Given the description of an element on the screen output the (x, y) to click on. 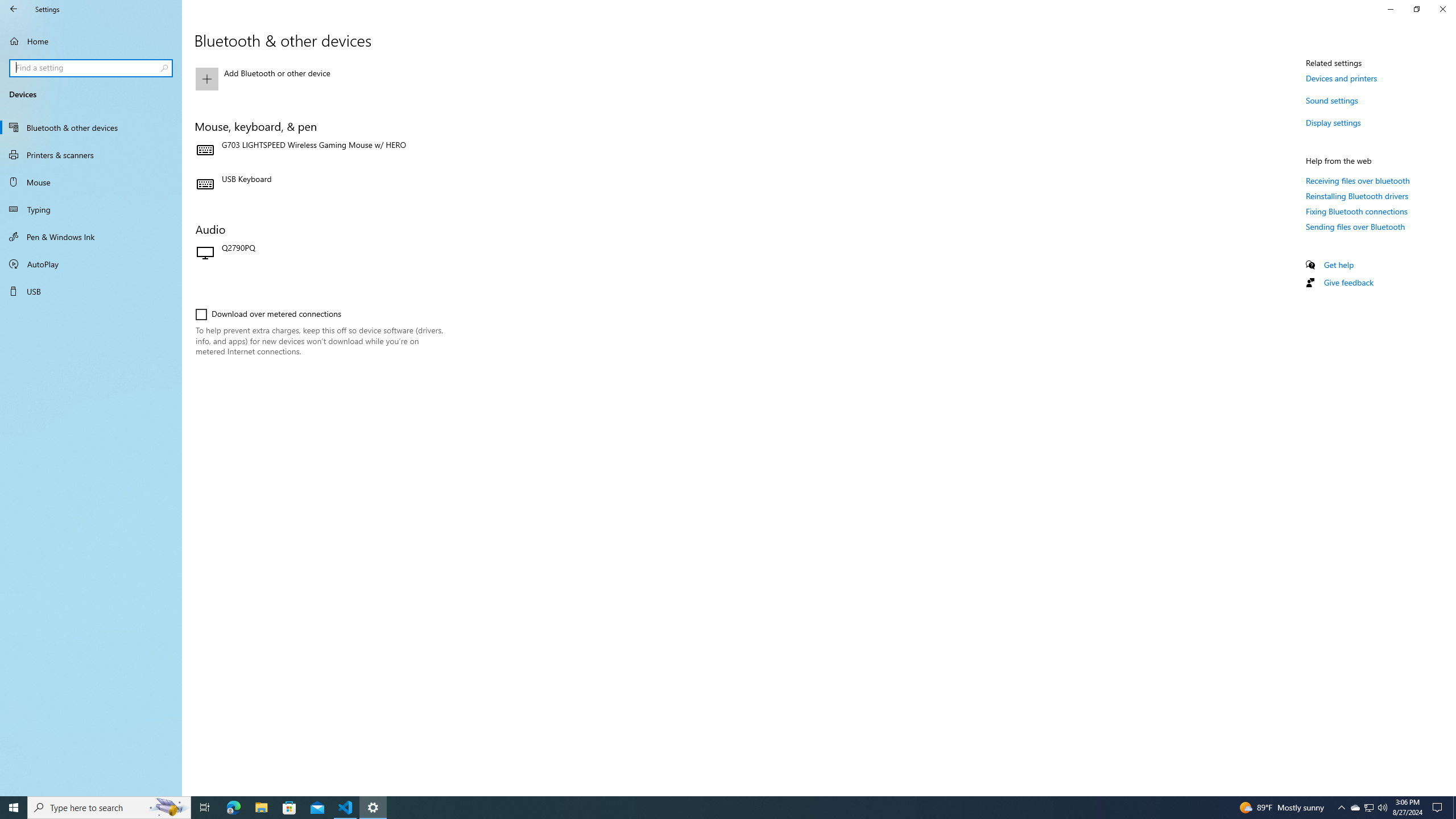
Add Bluetooth or other device (319, 78)
Q2790PQ Type: Display device (319, 253)
Give feedback (1348, 281)
Receiving files over bluetooth (1357, 180)
Sending files over Bluetooth (1355, 226)
Minimize Settings (1390, 9)
G703 LIGHTSPEED Wireless Gaming Mouse w/ HERO Type: Keyboard (319, 150)
USB Keyboard Type: Keyboard (319, 184)
Reinstalling Bluetooth drivers (1357, 195)
